Given the description of an element on the screen output the (x, y) to click on. 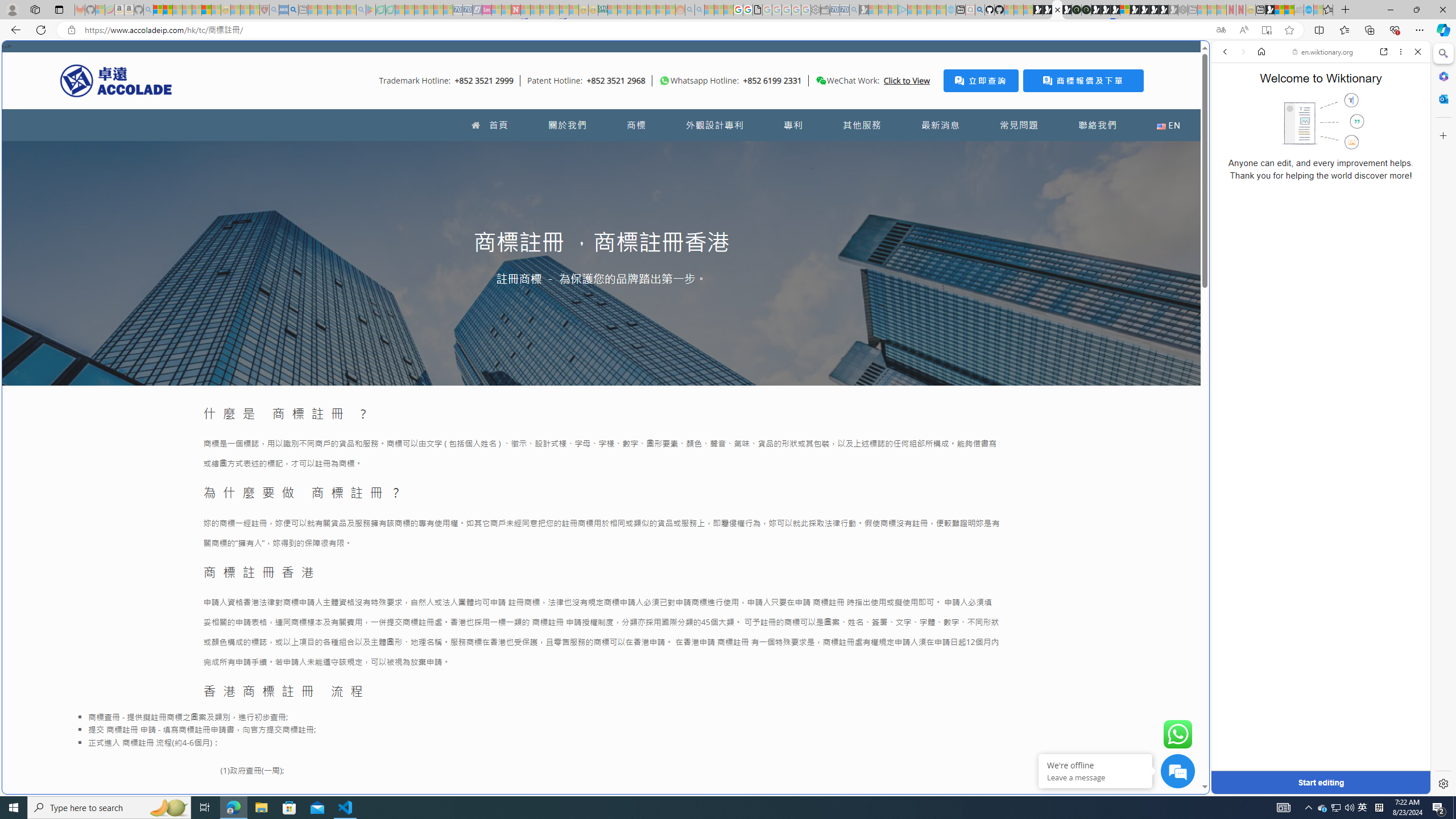
Accolade IP HK Logo (116, 80)
EN (1168, 124)
